Given the description of an element on the screen output the (x, y) to click on. 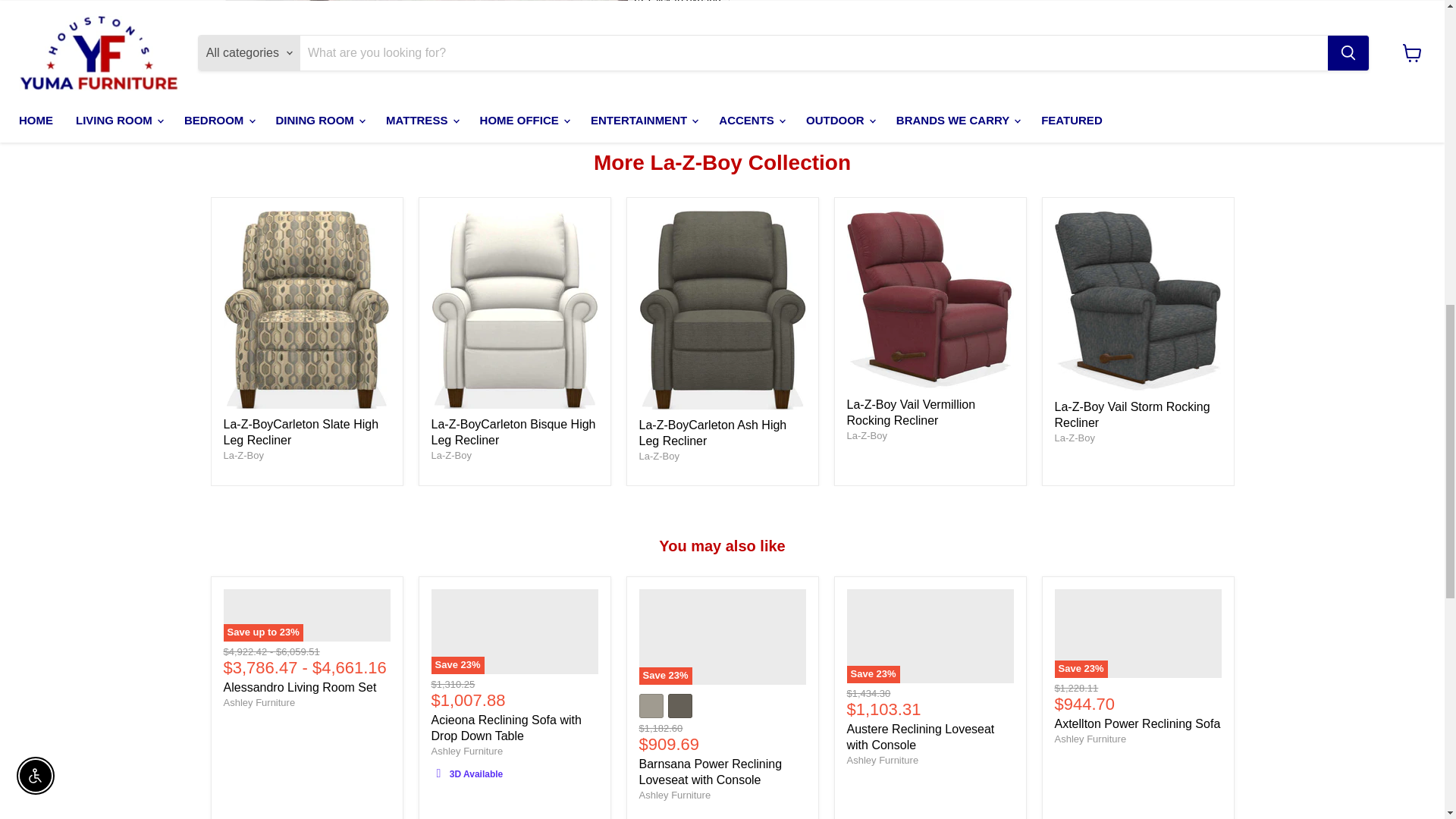
La-Z-Boy (865, 435)
La-Z-Boy (242, 455)
La-Z-Boy (658, 455)
Ashley Furniture (466, 750)
La-Z-Boy (450, 455)
Ashley Furniture (881, 759)
Ashley Furniture (1089, 738)
Ashley Furniture (258, 702)
Ashley Furniture (674, 794)
La-Z-Boy (1074, 437)
